Given the description of an element on the screen output the (x, y) to click on. 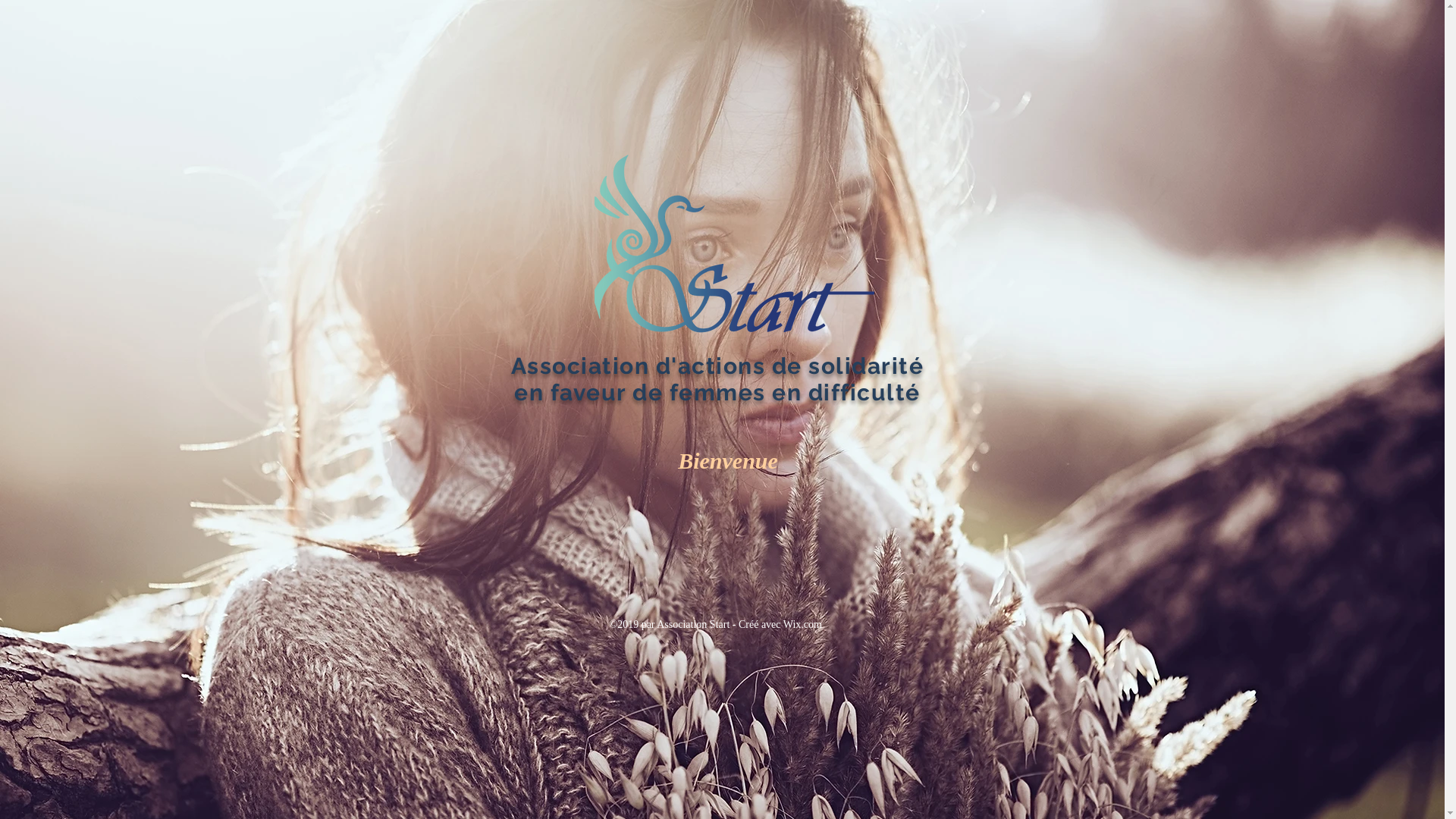
Bienvenue Element type: text (727, 460)
